Given the description of an element on the screen output the (x, y) to click on. 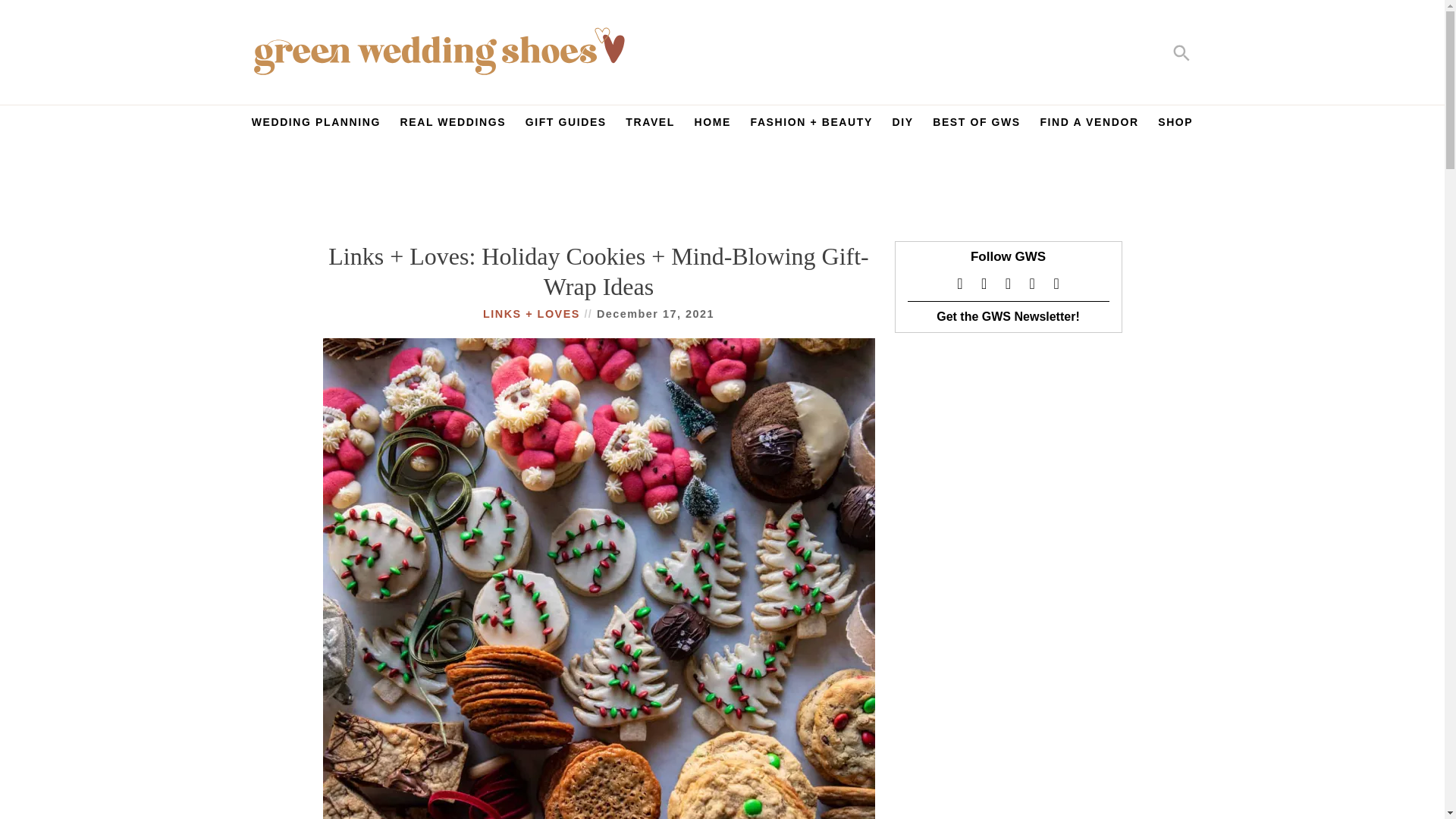
REAL WEDDINGS (452, 125)
TRAVEL (650, 125)
GIFT GUIDES (565, 125)
BEST OF GWS (976, 125)
WEDDING PLANNING (315, 125)
HOME (712, 125)
SHOP (1175, 125)
DIY (902, 125)
FIND A VENDOR (1088, 125)
